Given the description of an element on the screen output the (x, y) to click on. 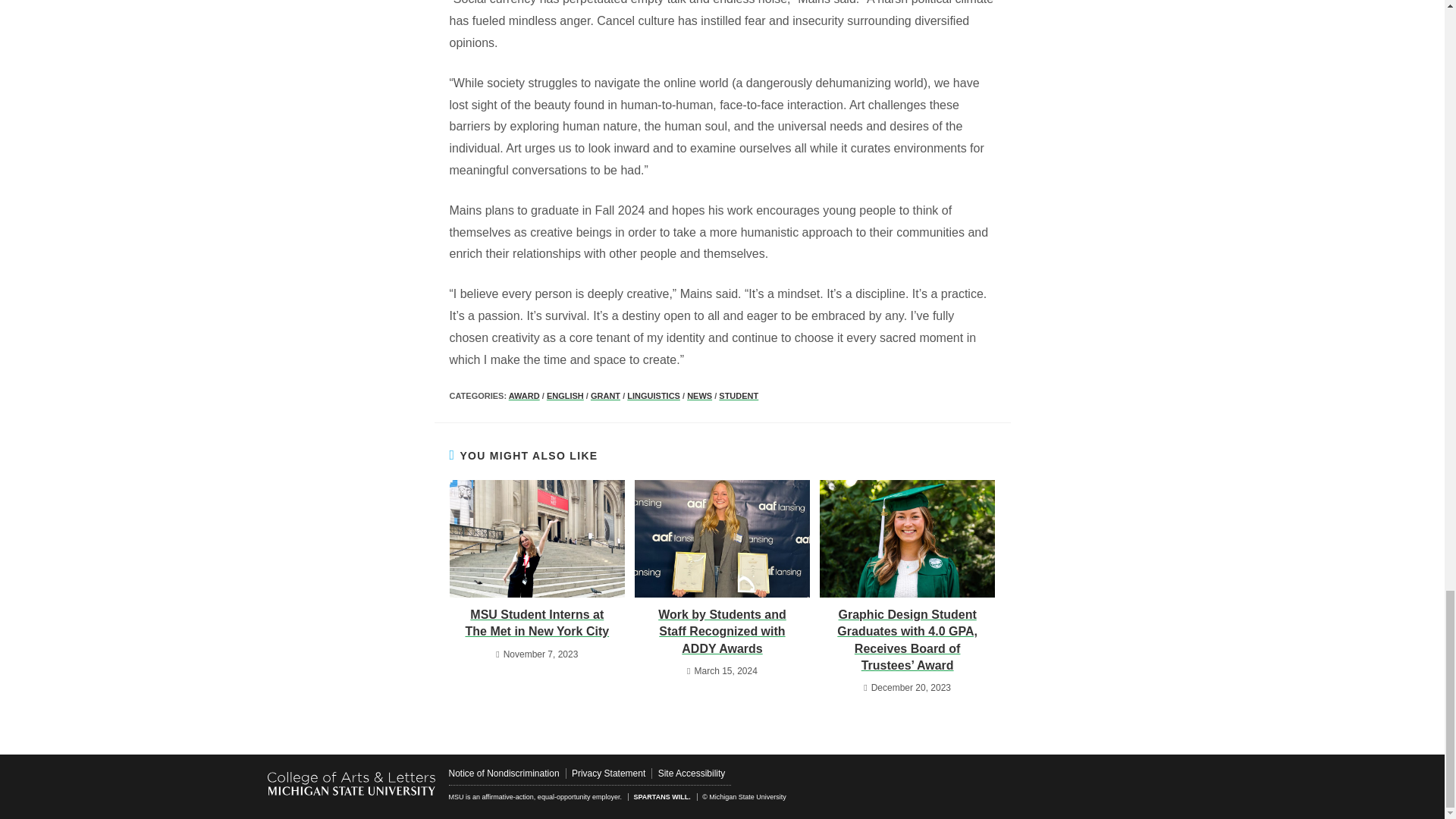
Michigan State University College of Arts and Letters (349, 783)
